Given the description of an element on the screen output the (x, y) to click on. 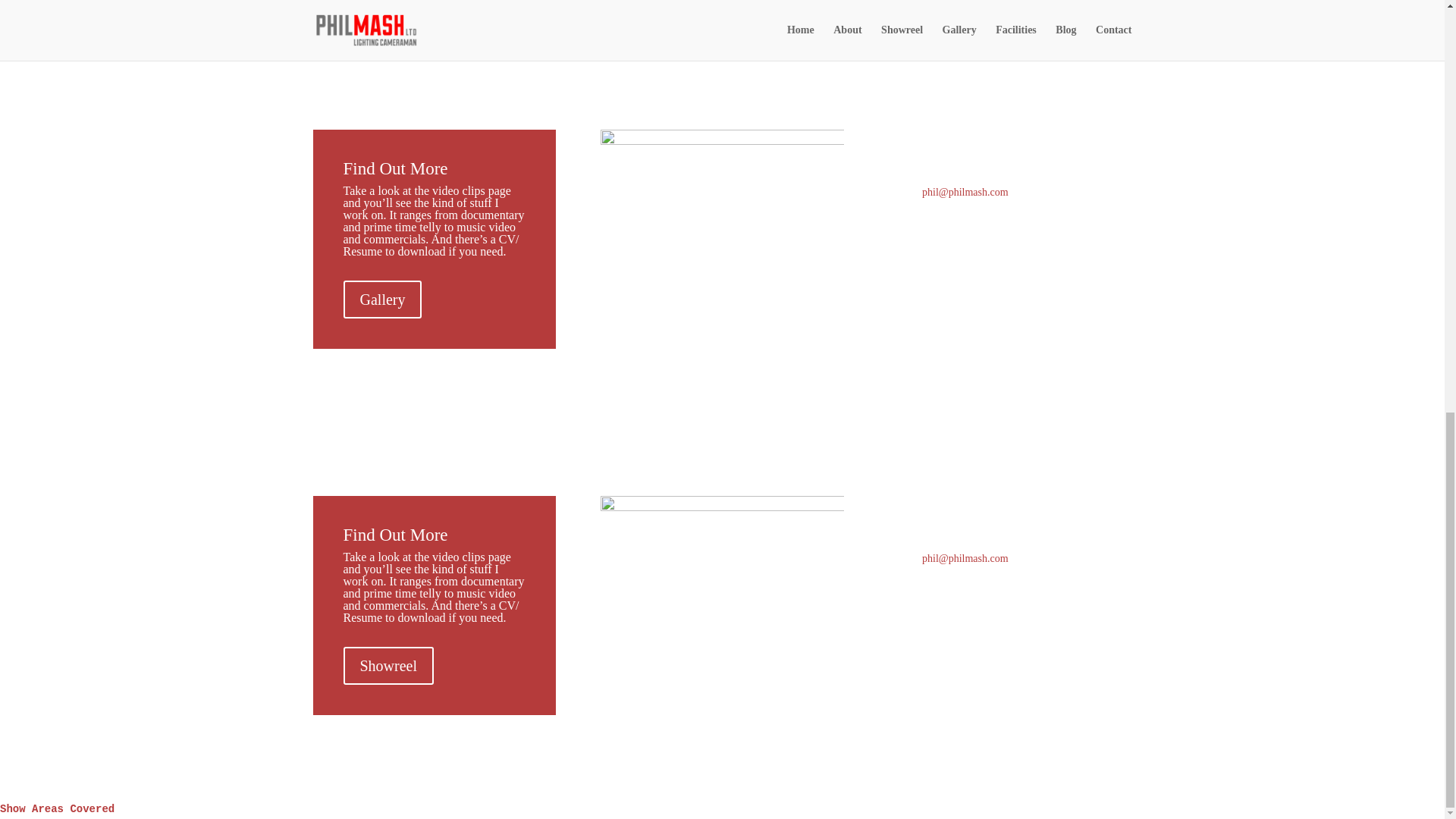
Gallery (382, 299)
Contact Form (947, 601)
Contact Form (947, 235)
Showreel (387, 665)
video clips page (471, 190)
